Given the description of an element on the screen output the (x, y) to click on. 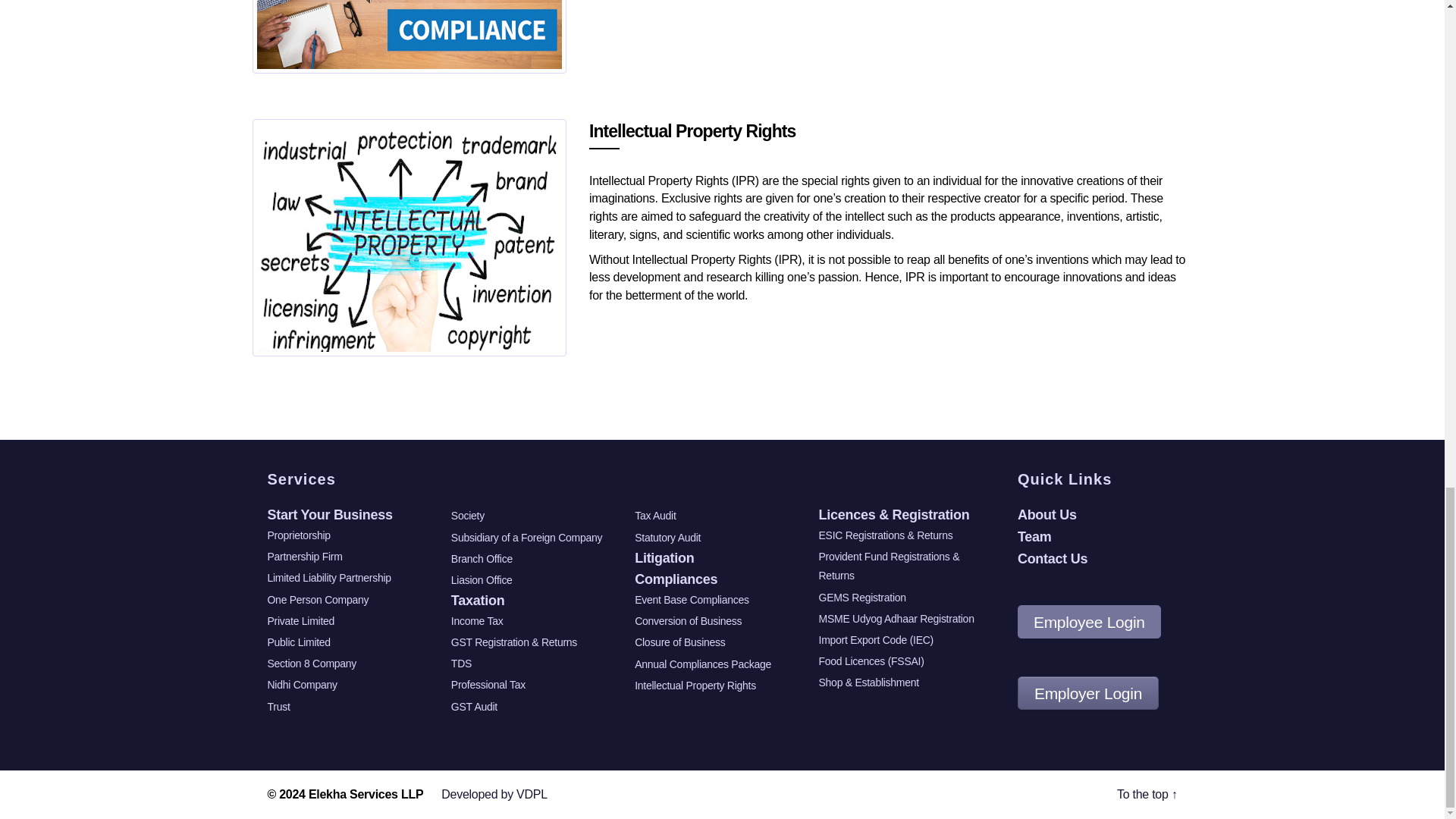
Annual Compliances Package (409, 34)
